Given the description of an element on the screen output the (x, y) to click on. 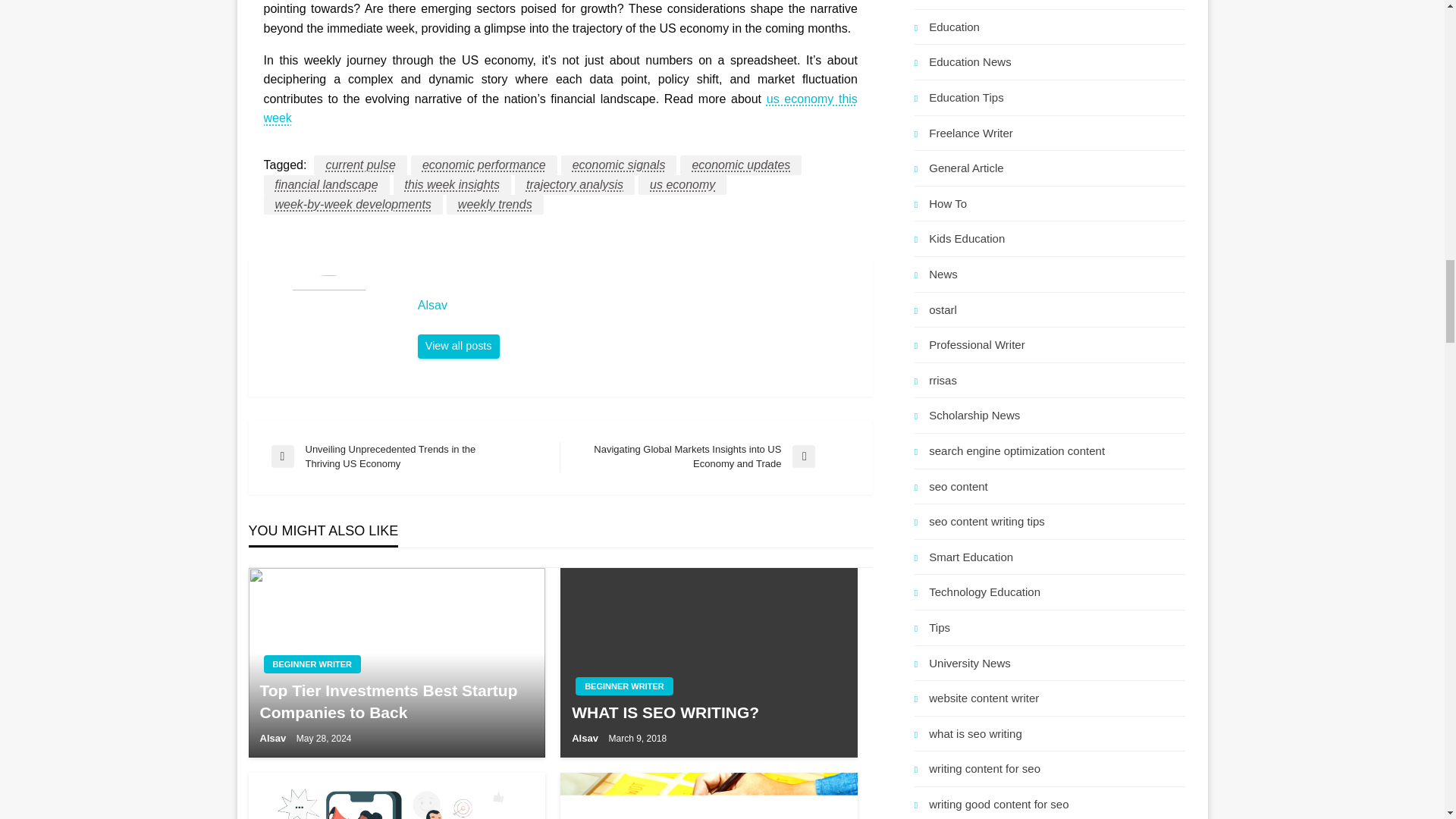
week-by-week developments (352, 204)
financial landscape (326, 184)
Alsav (458, 346)
Alsav (637, 305)
weekly trends (494, 204)
us economy (682, 184)
economic signals (618, 165)
us economy this week (560, 108)
trajectory analysis (574, 184)
current pulse (360, 165)
Alsav (637, 305)
this week insights (452, 184)
economic performance (483, 165)
economic updates (740, 165)
